Given the description of an element on the screen output the (x, y) to click on. 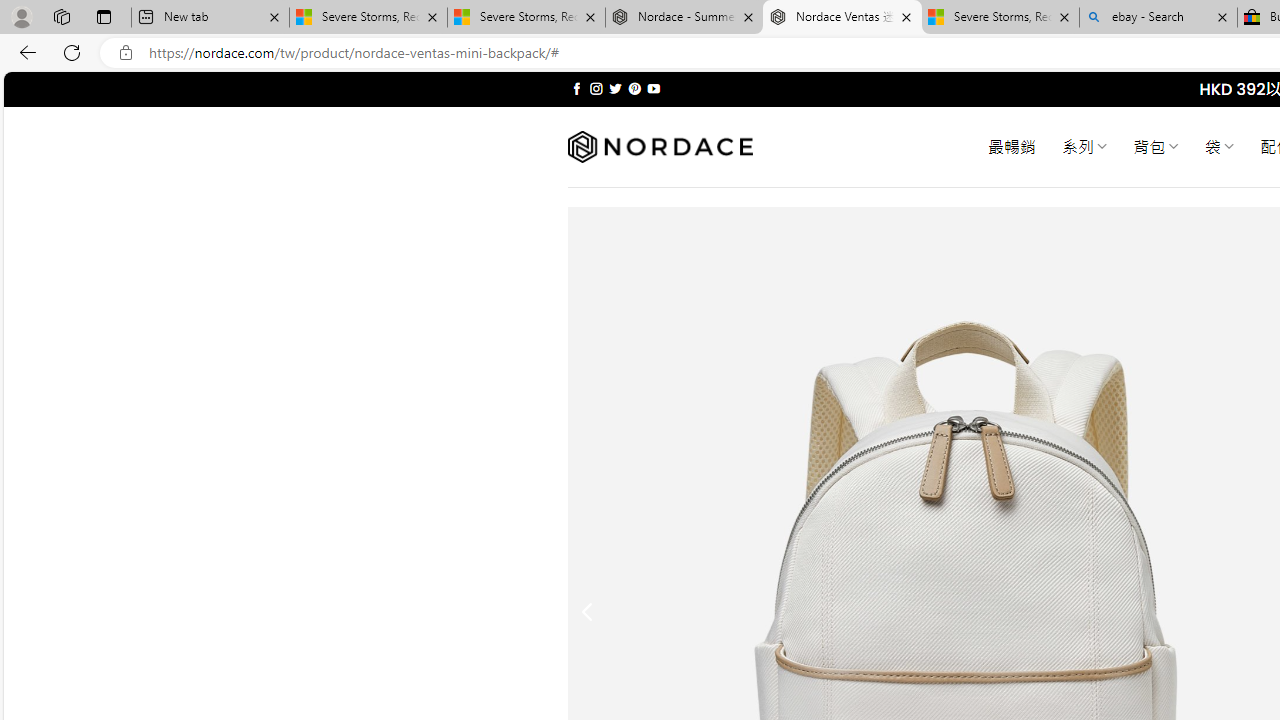
Follow on Instagram (596, 88)
Follow on Facebook (576, 88)
Follow on YouTube (653, 88)
Follow on Pinterest (634, 88)
